Given the description of an element on the screen output the (x, y) to click on. 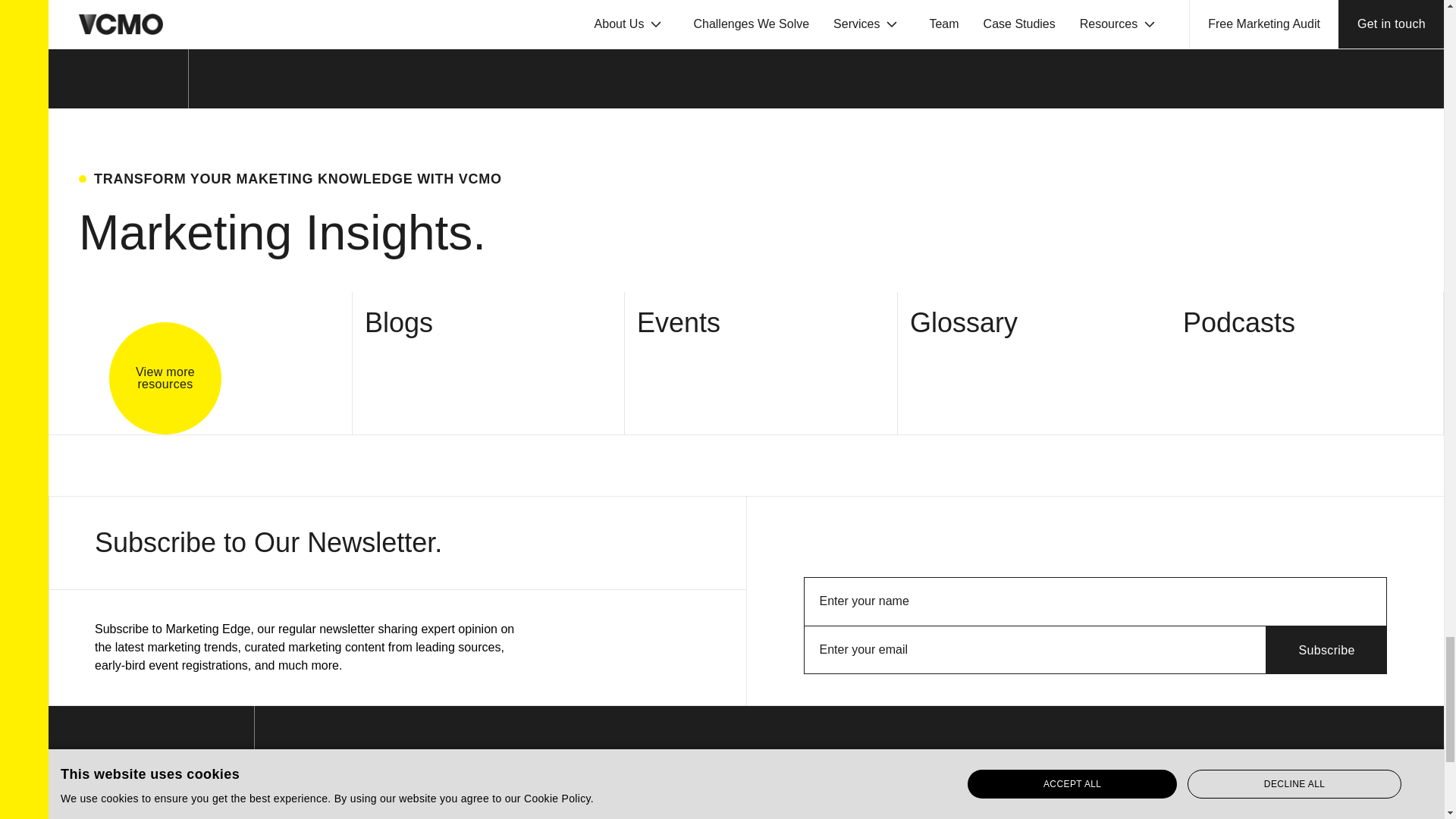
Subscribe (1326, 649)
